Given the description of an element on the screen output the (x, y) to click on. 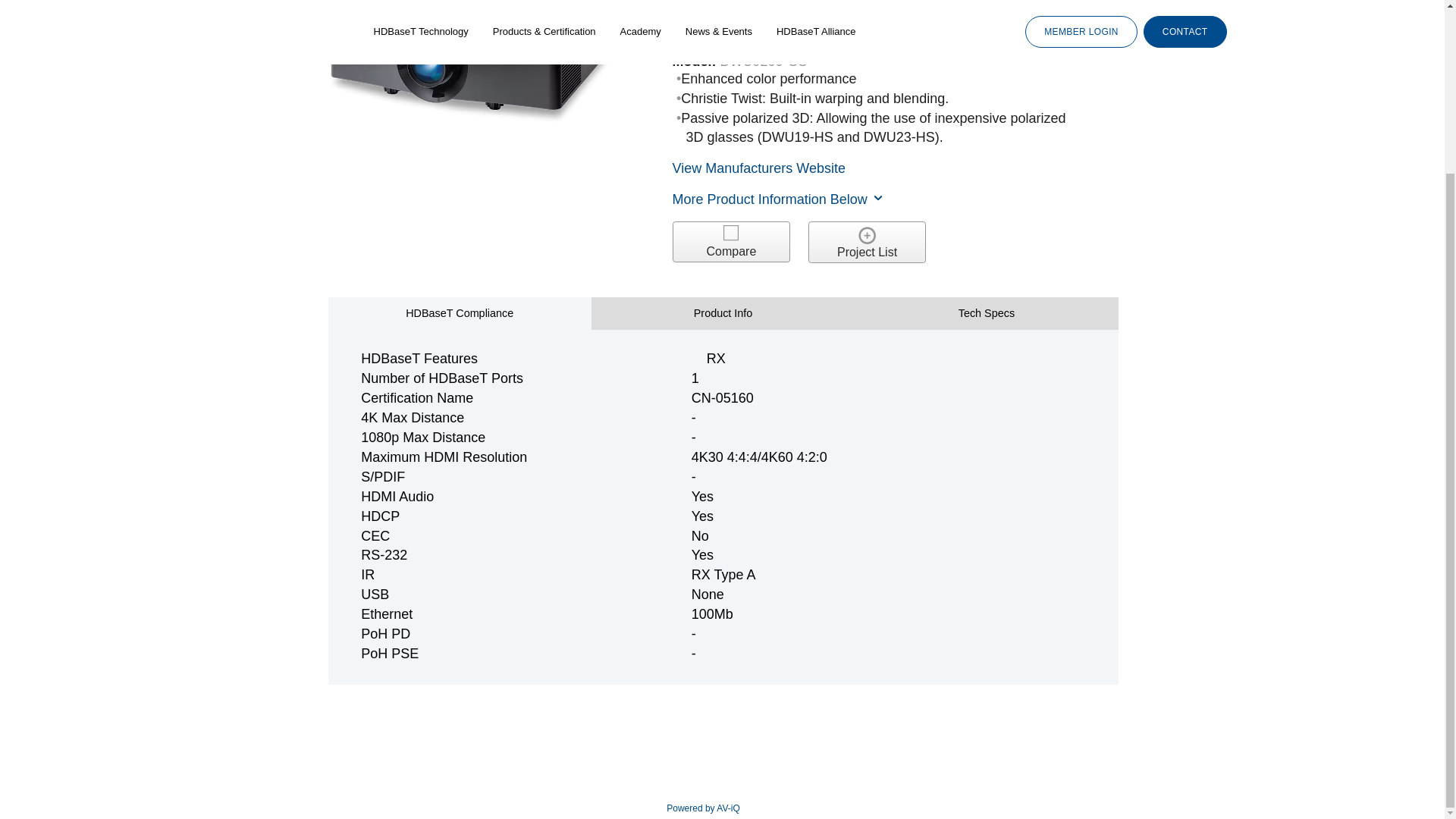
View Manufacturers Website (758, 168)
Powered by AV-iQ (702, 808)
More Product Information Below (778, 199)
christie (728, 26)
